Given the description of an element on the screen output the (x, y) to click on. 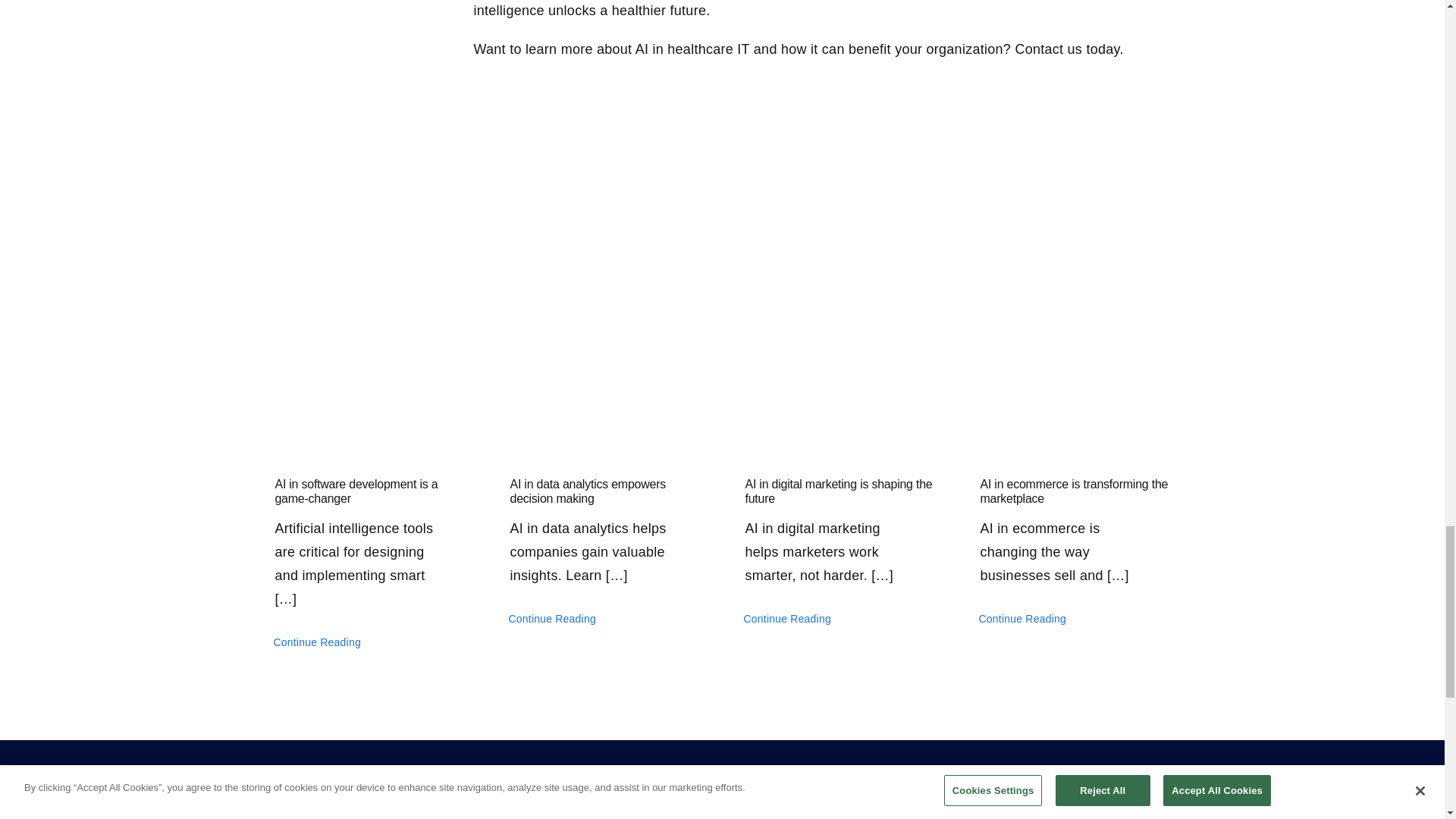
AI in digital marketing is shaping the future (839, 378)
AI in data analytics empowers decision making (604, 378)
AI in software development is a game-changer (368, 378)
AI in ecommerce is transforming the marketplace (1074, 378)
